Given the description of an element on the screen output the (x, y) to click on. 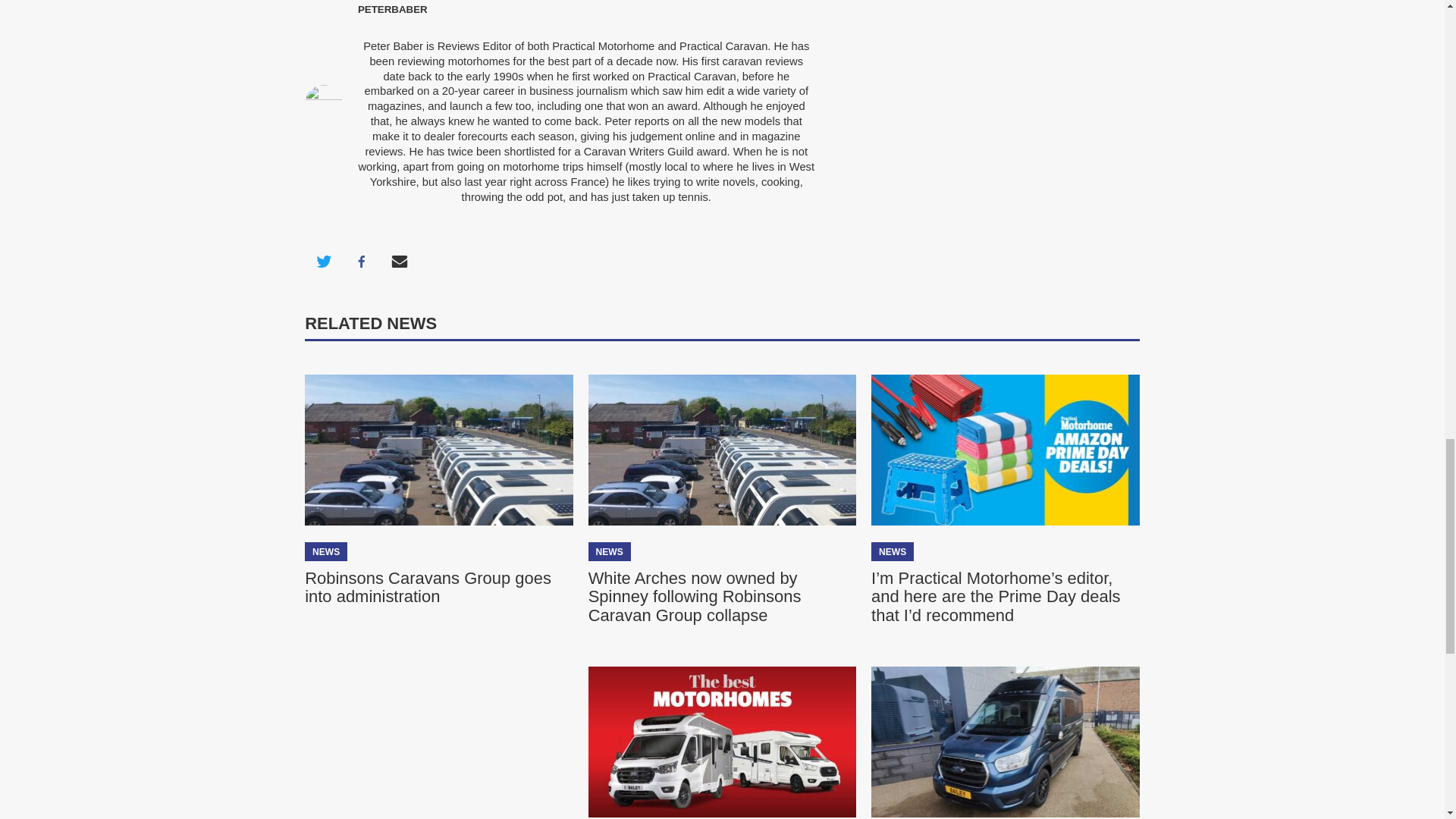
PeterBaber's Author Profile (393, 9)
Share on Facebook (361, 261)
Share on Twitter (323, 261)
Share via Email (399, 261)
